Given the description of an element on the screen output the (x, y) to click on. 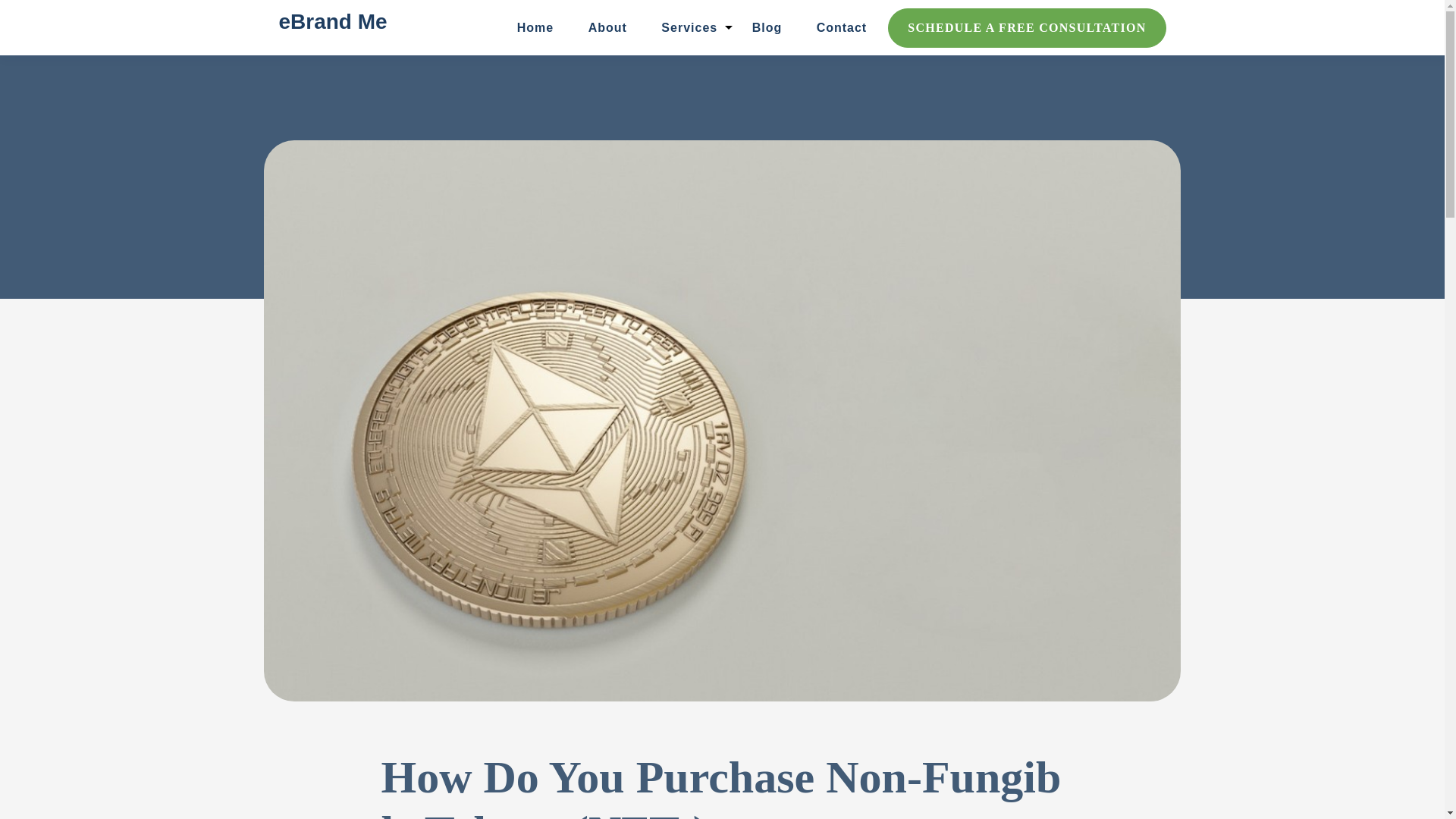
SCHEDULE A FREE CONSULTATION (1027, 27)
Home (534, 27)
About (607, 27)
Contact (841, 27)
Services (689, 27)
Blog (767, 27)
